Given the description of an element on the screen output the (x, y) to click on. 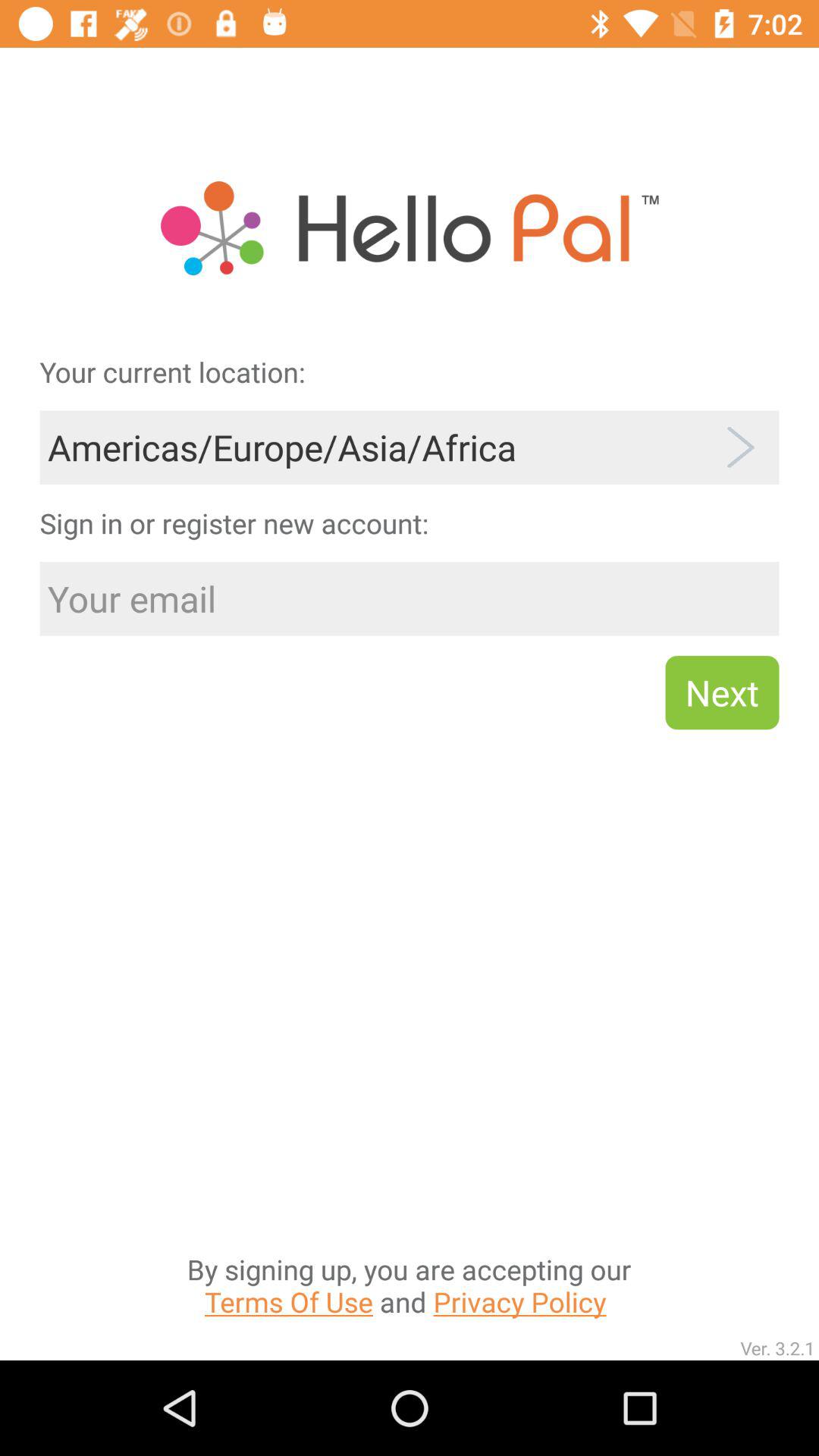
choose the by signing up icon (409, 1133)
